Given the description of an element on the screen output the (x, y) to click on. 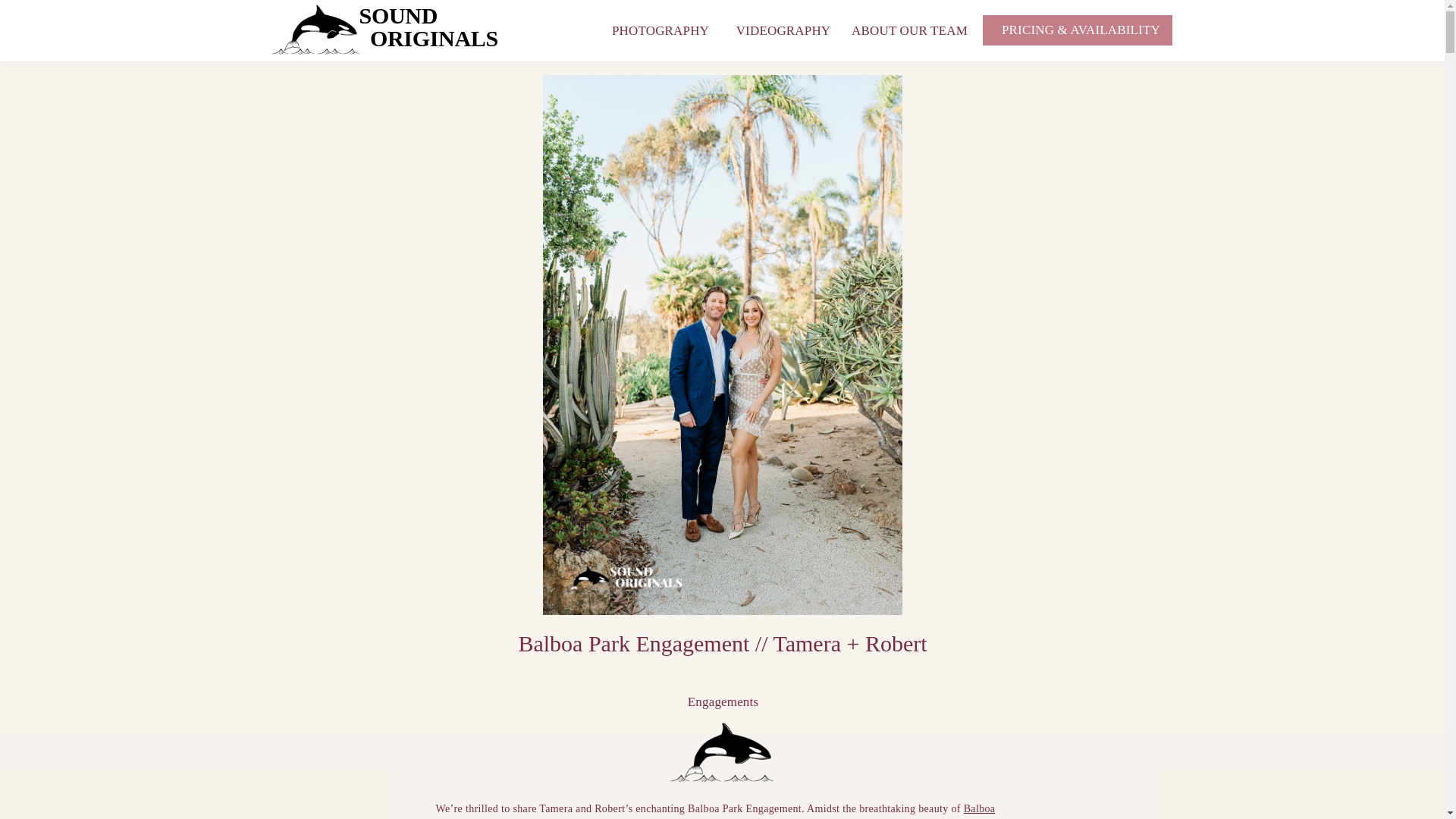
Engagements (722, 701)
ABOUT OUR TEAM (909, 29)
VIDEOGRAPHY (782, 29)
Balboa Park (714, 811)
PHOTOGRAPHY (429, 28)
